Given the description of an element on the screen output the (x, y) to click on. 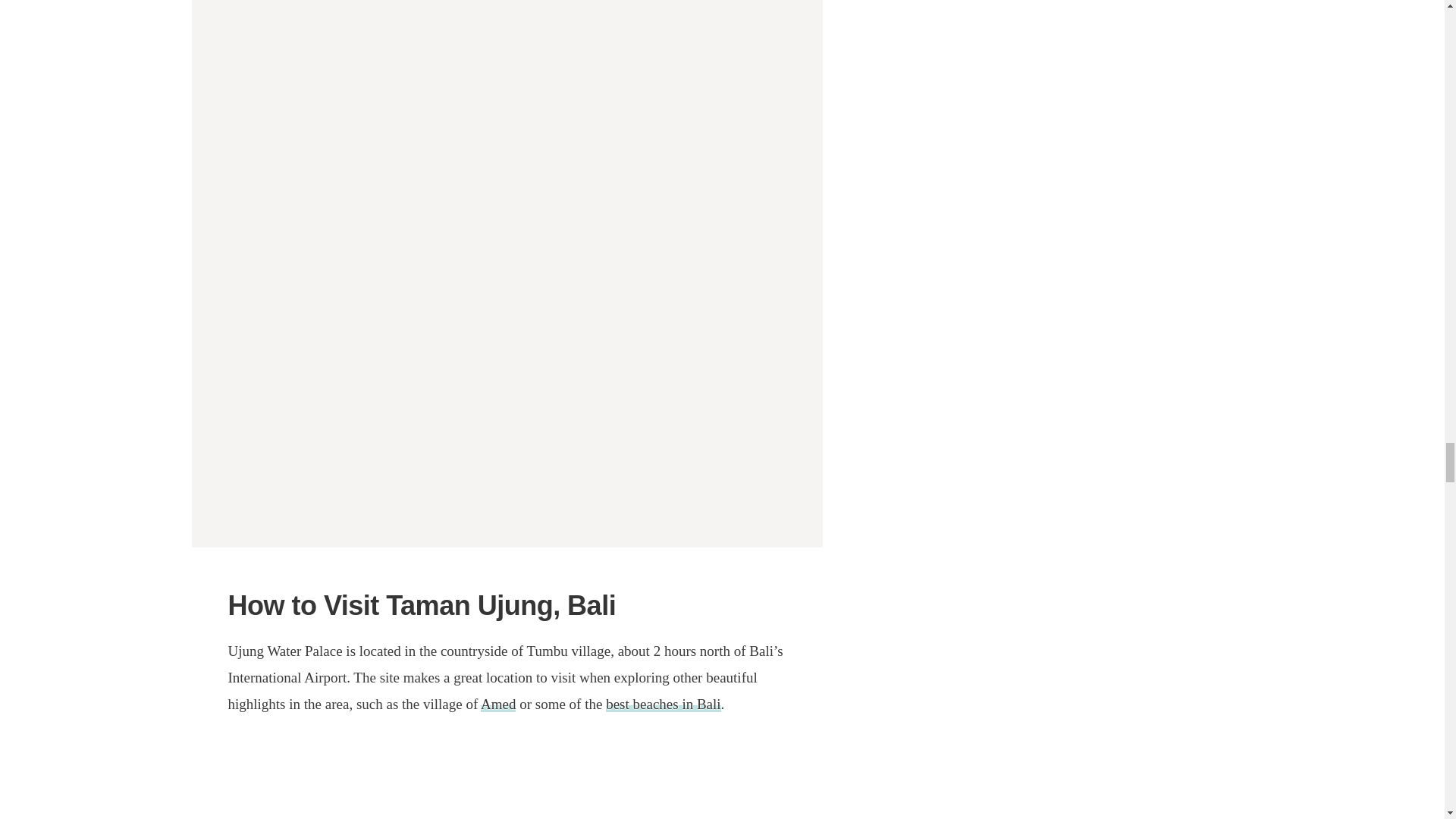
Amed (497, 703)
best beaches in Bali (662, 703)
